Given the description of an element on the screen output the (x, y) to click on. 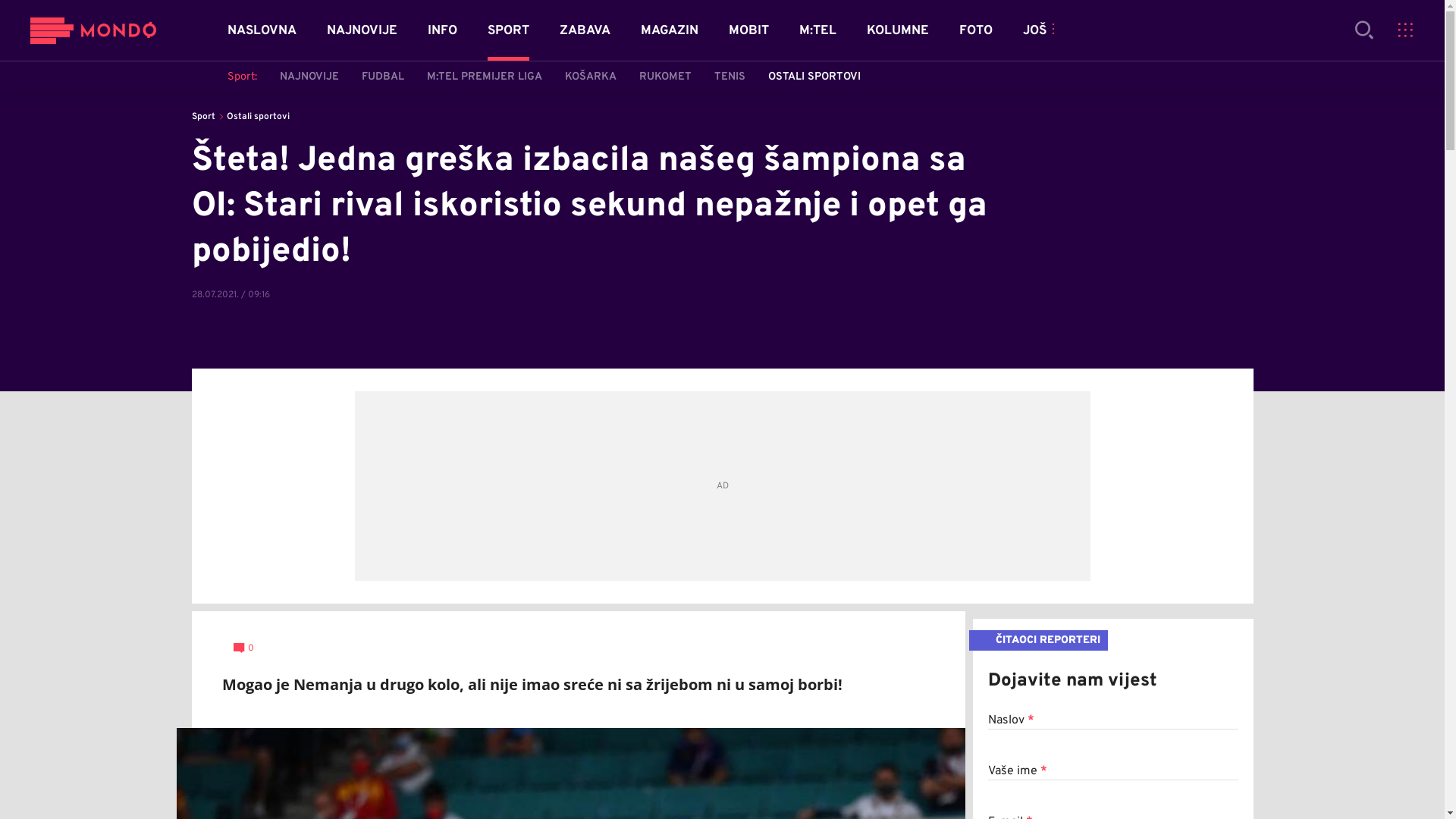
NAJNOVIJE Element type: text (361, 30)
FUDBAL Element type: text (382, 76)
M:TEL PREMIJER LIGA Element type: text (484, 76)
KOLUMNE Element type: text (897, 30)
TENIS Element type: text (729, 76)
FOTO Element type: text (975, 30)
Ostali sportovi Element type: text (256, 116)
OSTALI SPORTOVI Element type: text (814, 76)
NAJNOVIJE Element type: text (308, 76)
MOBIT Element type: text (748, 30)
INFO Element type: text (442, 30)
NASLOVNA Element type: text (261, 30)
Sport Element type: text (202, 116)
ZABAVA Element type: text (584, 30)
SPORT Element type: text (508, 30)
MAGAZIN Element type: text (669, 30)
0 Element type: text (243, 649)
RUKOMET Element type: text (665, 76)
M:TEL Element type: text (817, 30)
